Given the description of an element on the screen output the (x, y) to click on. 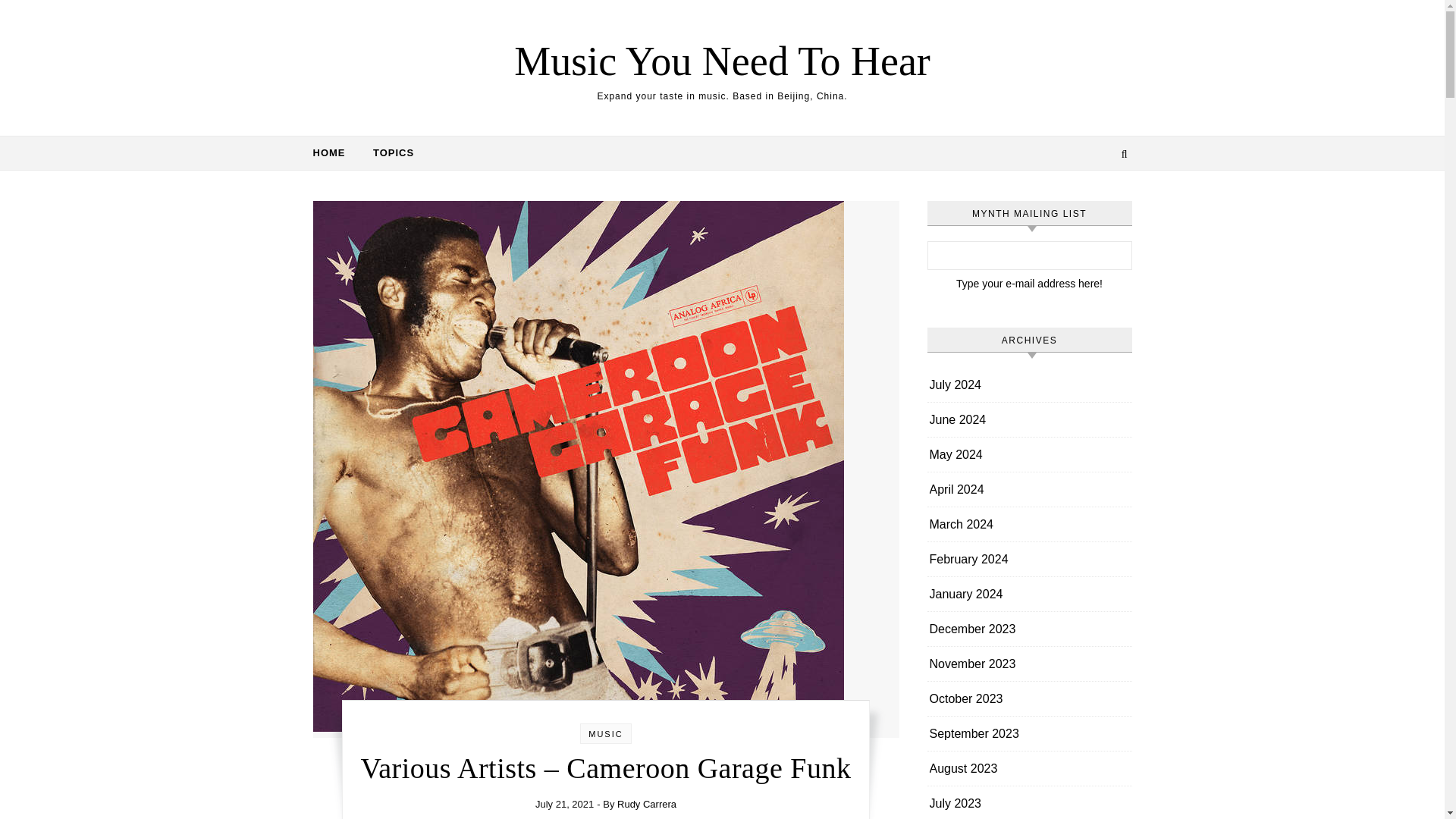
Rudy Carrera (647, 803)
MUSIC (605, 733)
Music You Need To Hear (722, 61)
Posts by Rudy Carrera (647, 803)
Type your e-mail address here! (1028, 283)
TOPICS (387, 152)
HOME (334, 152)
